Given the description of an element on the screen output the (x, y) to click on. 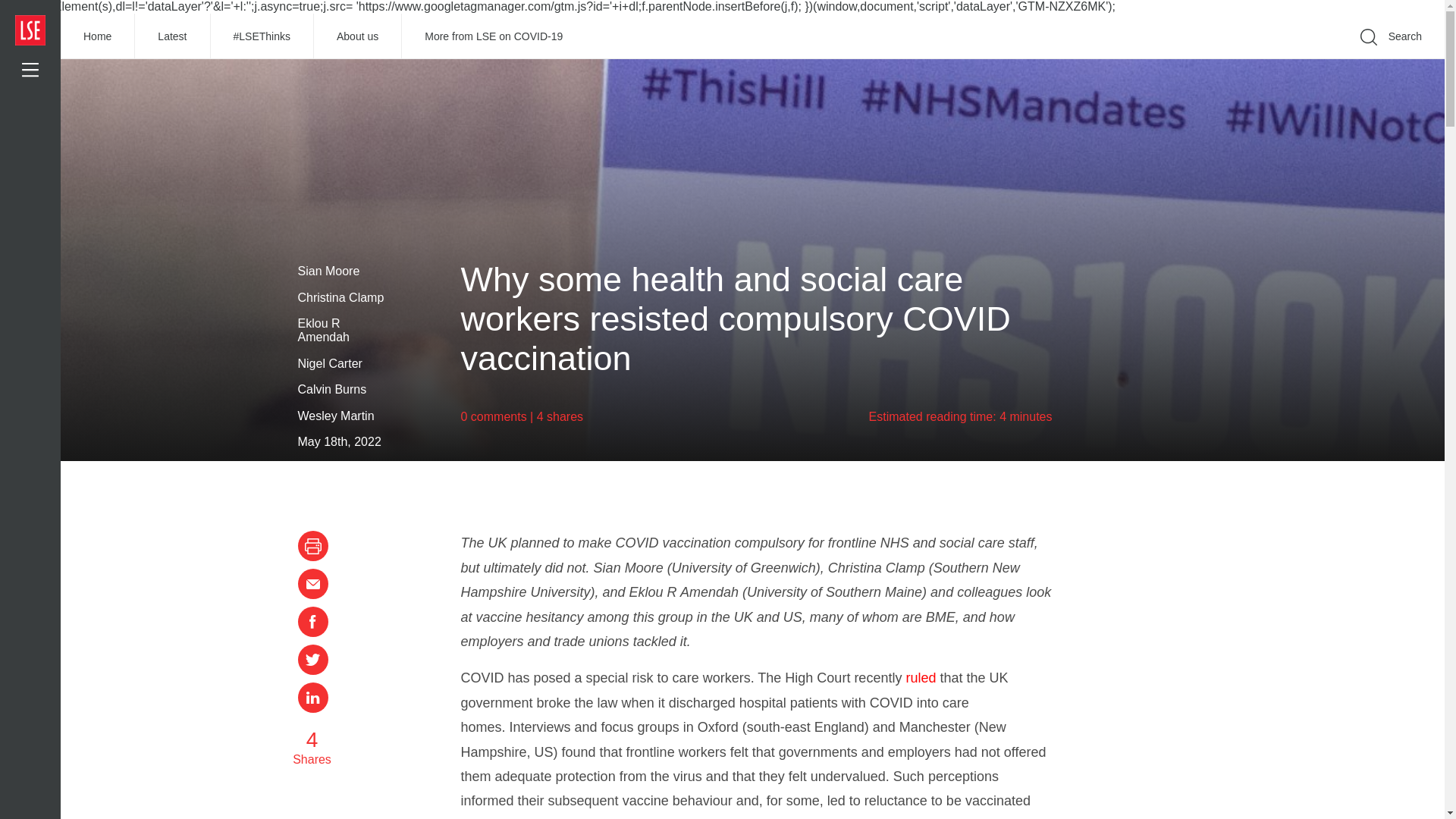
Latest (172, 35)
Home (98, 35)
About us (357, 35)
ruled (920, 677)
More from LSE on COVID-19 (493, 35)
Go (1190, 58)
